Given the description of an element on the screen output the (x, y) to click on. 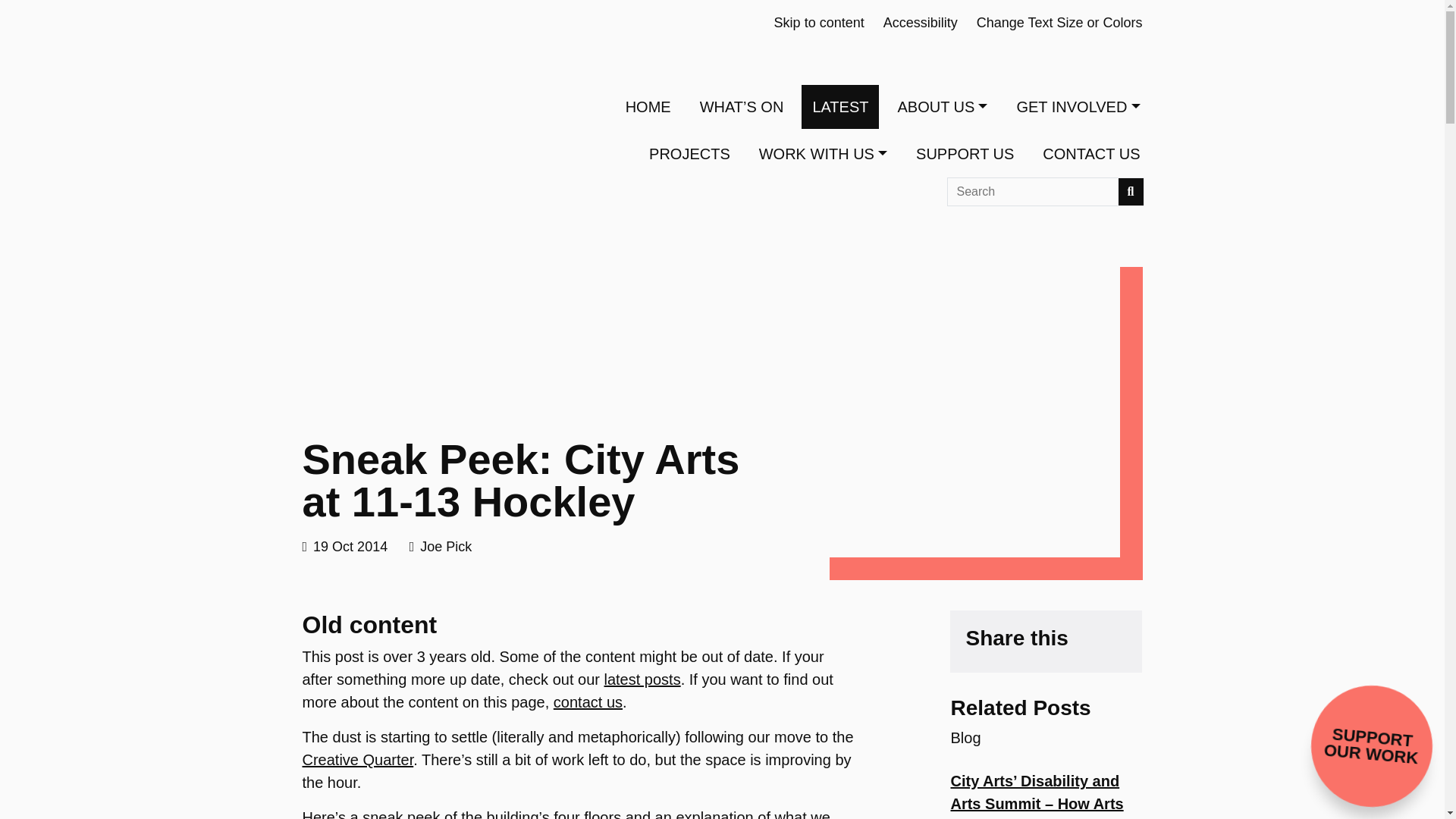
Accessibility (920, 22)
LATEST (840, 106)
GET INVOLVED (1078, 106)
WORK WITH US (823, 153)
Change Text Size or Colors (1059, 22)
contact us (588, 701)
HOME (647, 106)
Skip to content (819, 22)
CONTACT US (1091, 153)
PROJECTS (690, 153)
